Given the description of an element on the screen output the (x, y) to click on. 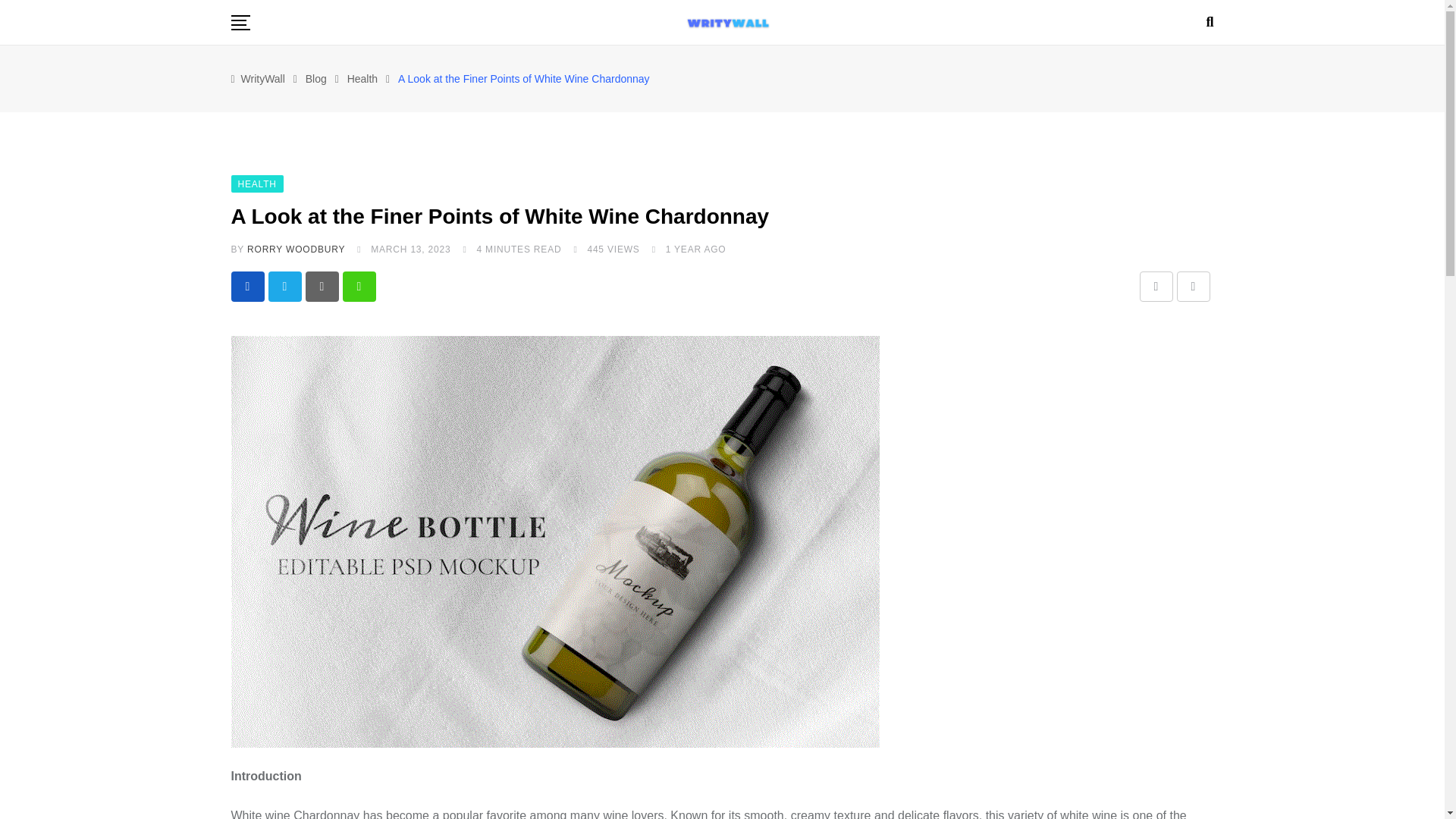
Go to WrityWall. (263, 78)
Pinterest (320, 286)
RORRY WOODBURY (296, 249)
Share via Email (1155, 286)
Go to Blog. (315, 78)
Blog (315, 78)
HEALTH (256, 183)
Print (1192, 286)
Go to the Health category archives. (362, 78)
Whatsapp (358, 286)
Health (362, 78)
WrityWall (263, 78)
